Given the description of an element on the screen output the (x, y) to click on. 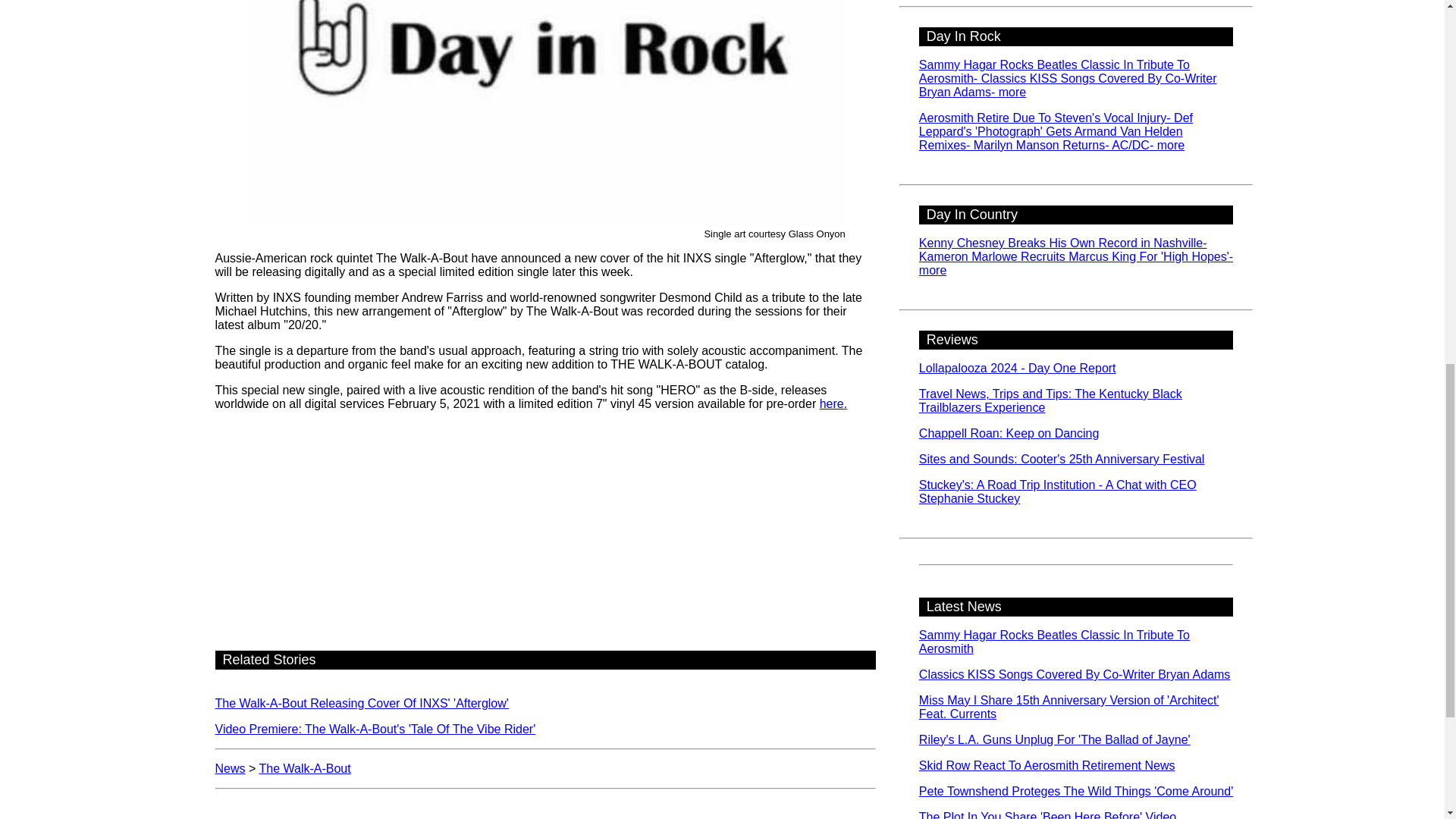
News (230, 768)
The Walk-A-Bout Releasing Cover Of INXS' 'Afterglow' (361, 703)
here. (833, 403)
Pete Townshend Proteges The Wild Things 'Come Around' (1075, 790)
Video Premiere: The Walk-A-Bout's 'Tale Of The Vibe Rider' (375, 728)
Classics KISS Songs Covered By Co-Writer Bryan Adams (1074, 674)
Sites and Sounds: Cooter's 25th Anniversary Festival (1061, 459)
Lollapalooza 2024 - Day One Report (1017, 367)
Sammy Hagar Rocks Beatles Classic In Tribute To Aerosmith (1053, 641)
Skid Row React To Aerosmith Retirement News (1046, 765)
Riley's L.A. Guns Unplug For 'The Ballad of Jayne' (1054, 739)
